Given the description of an element on the screen output the (x, y) to click on. 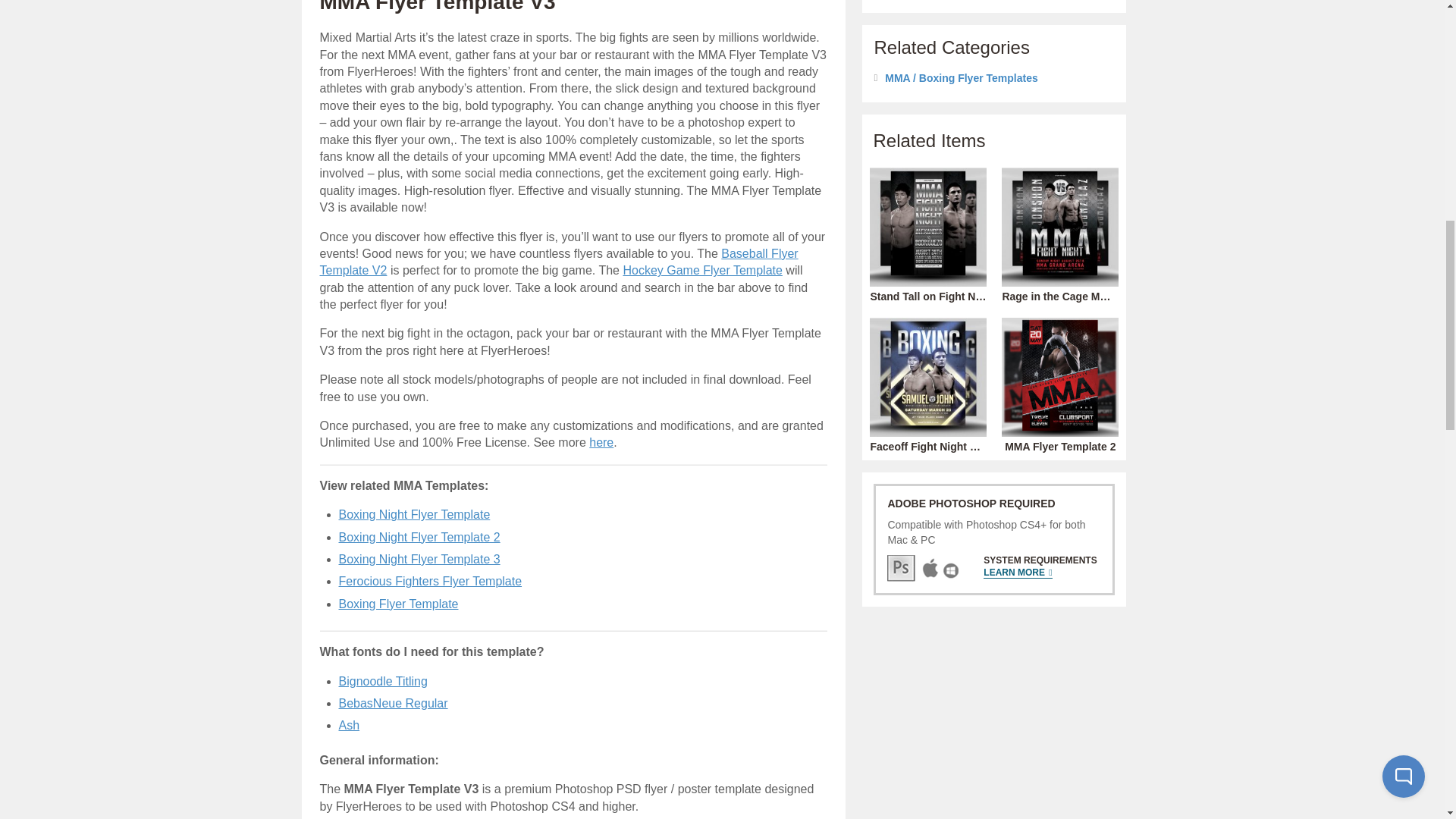
Boxing Night Flyer Template (413, 513)
Ferocious Fighters Flyer Template (429, 581)
Boxing Night Flyer Template 2 (418, 536)
Boxing Night Flyer Template 2 (418, 558)
Boxing Flyer Template (397, 603)
